Given the description of an element on the screen output the (x, y) to click on. 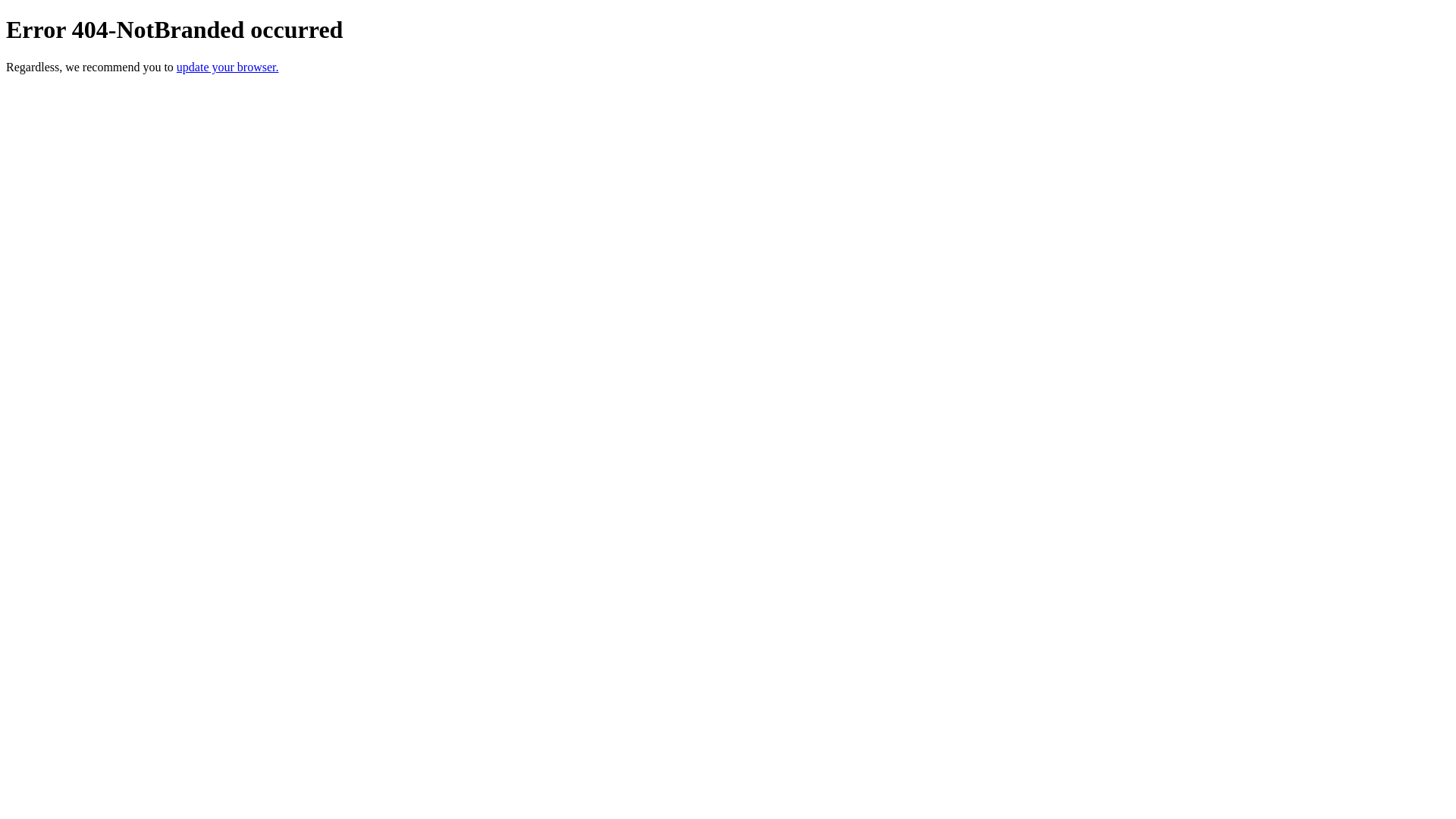
update your browser. Element type: text (227, 66)
